Given the description of an element on the screen output the (x, y) to click on. 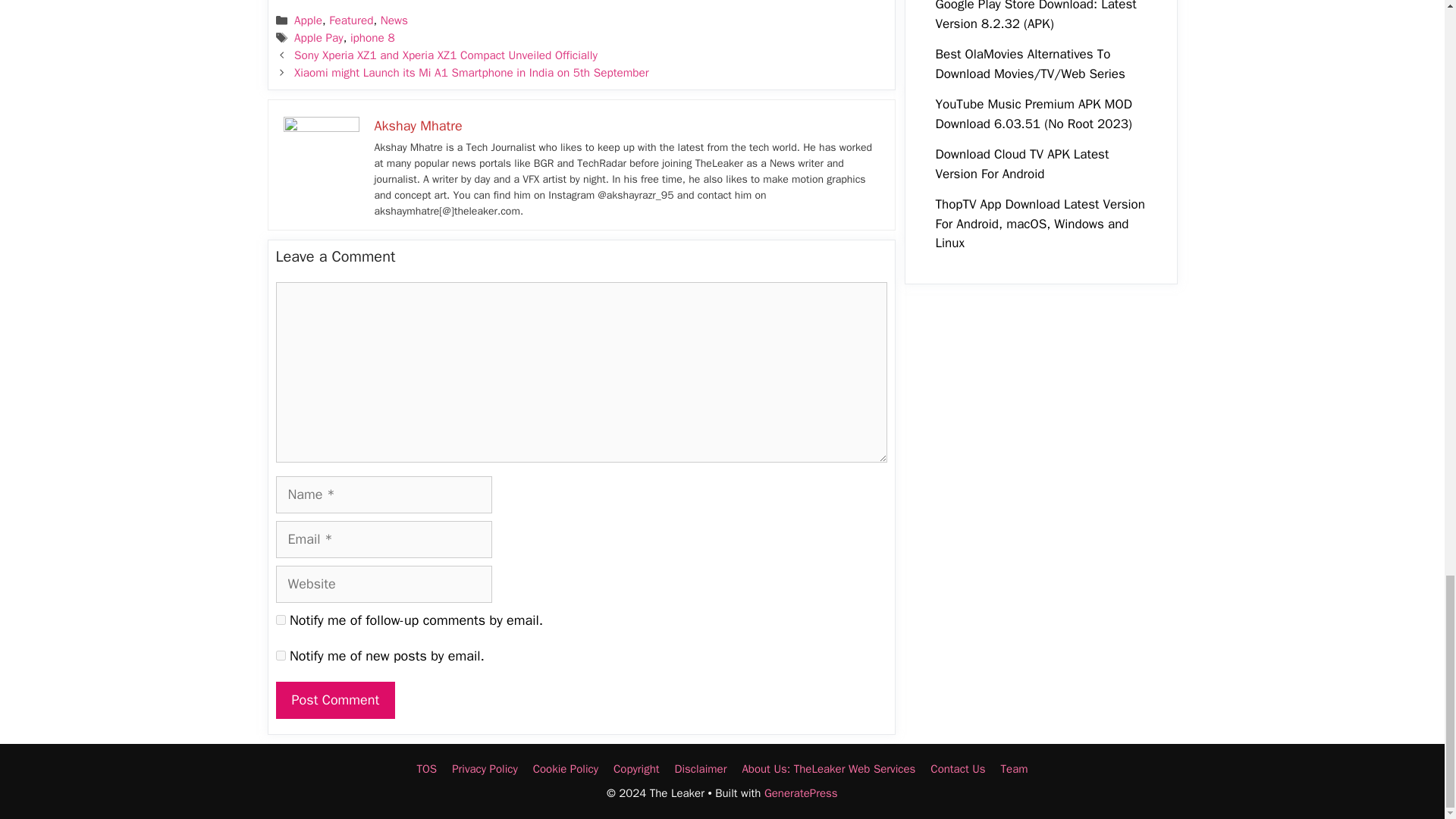
subscribe (280, 619)
subscribe (280, 655)
Post Comment (336, 700)
